Given the description of an element on the screen output the (x, y) to click on. 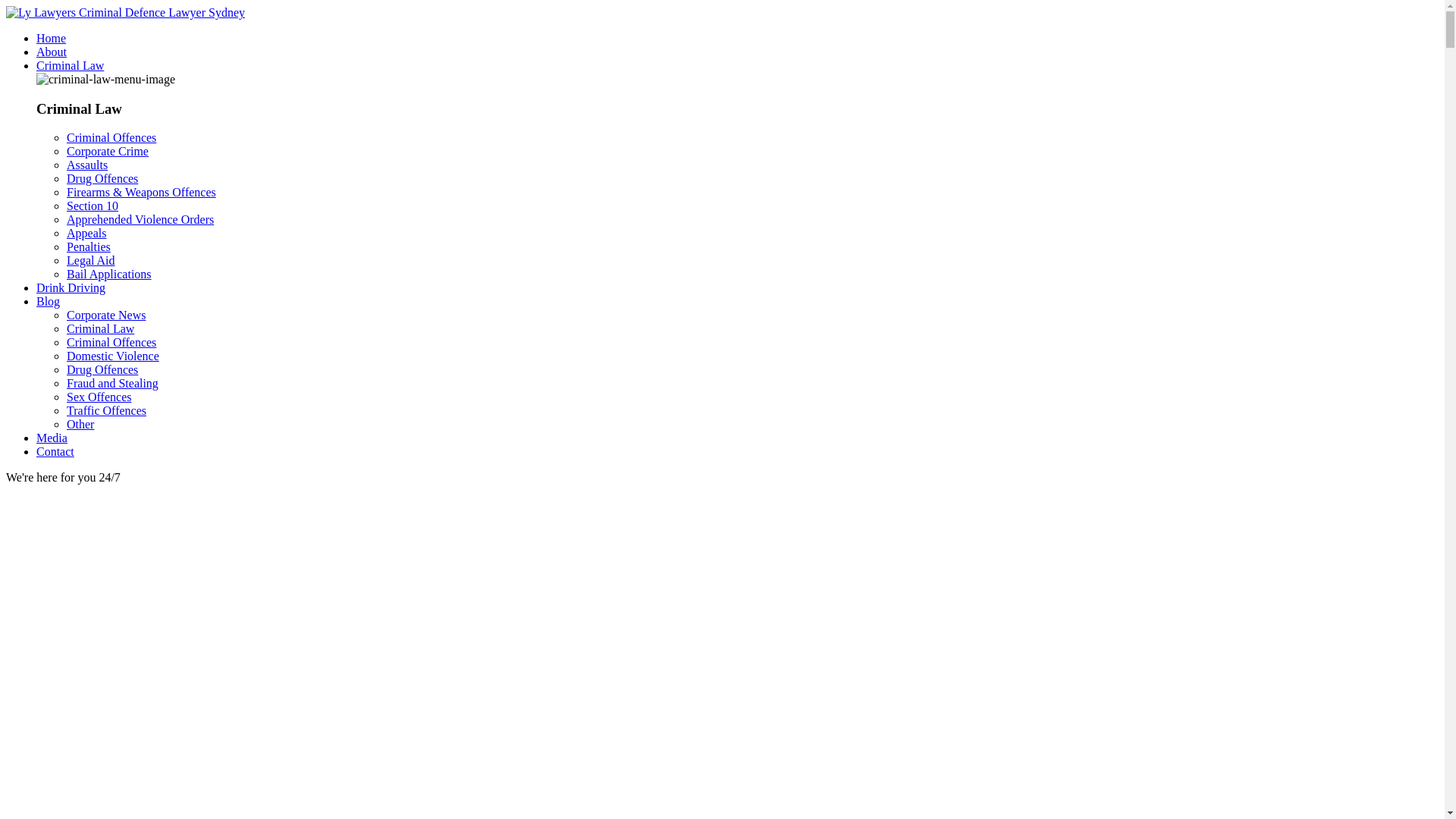
Corporate News Element type: text (105, 314)
Criminal Offences Element type: text (111, 137)
Section 10 Element type: text (92, 205)
Appeals Element type: text (86, 232)
Sex Offences Element type: text (98, 396)
Traffic Offences Element type: text (106, 410)
Blog Element type: text (47, 300)
Criminal Law Element type: text (100, 328)
Criminal Law Element type: text (69, 65)
Drink Driving Element type: text (70, 287)
Other Element type: text (80, 423)
Home Element type: text (50, 37)
Bail Applications Element type: text (108, 273)
Media Element type: text (51, 437)
Penalties Element type: text (88, 246)
Drug Offences Element type: text (102, 178)
About Element type: text (51, 51)
Criminal Offences Element type: text (111, 341)
Domestic Violence Element type: text (112, 355)
Drug Offences Element type: text (102, 369)
Contact Element type: text (55, 451)
Assaults Element type: text (86, 164)
Firearms & Weapons Offences Element type: text (141, 191)
Apprehended Violence Orders Element type: text (139, 219)
Legal Aid Element type: text (90, 260)
Fraud and Stealing Element type: text (112, 382)
Corporate Crime Element type: text (107, 150)
